Given the description of an element on the screen output the (x, y) to click on. 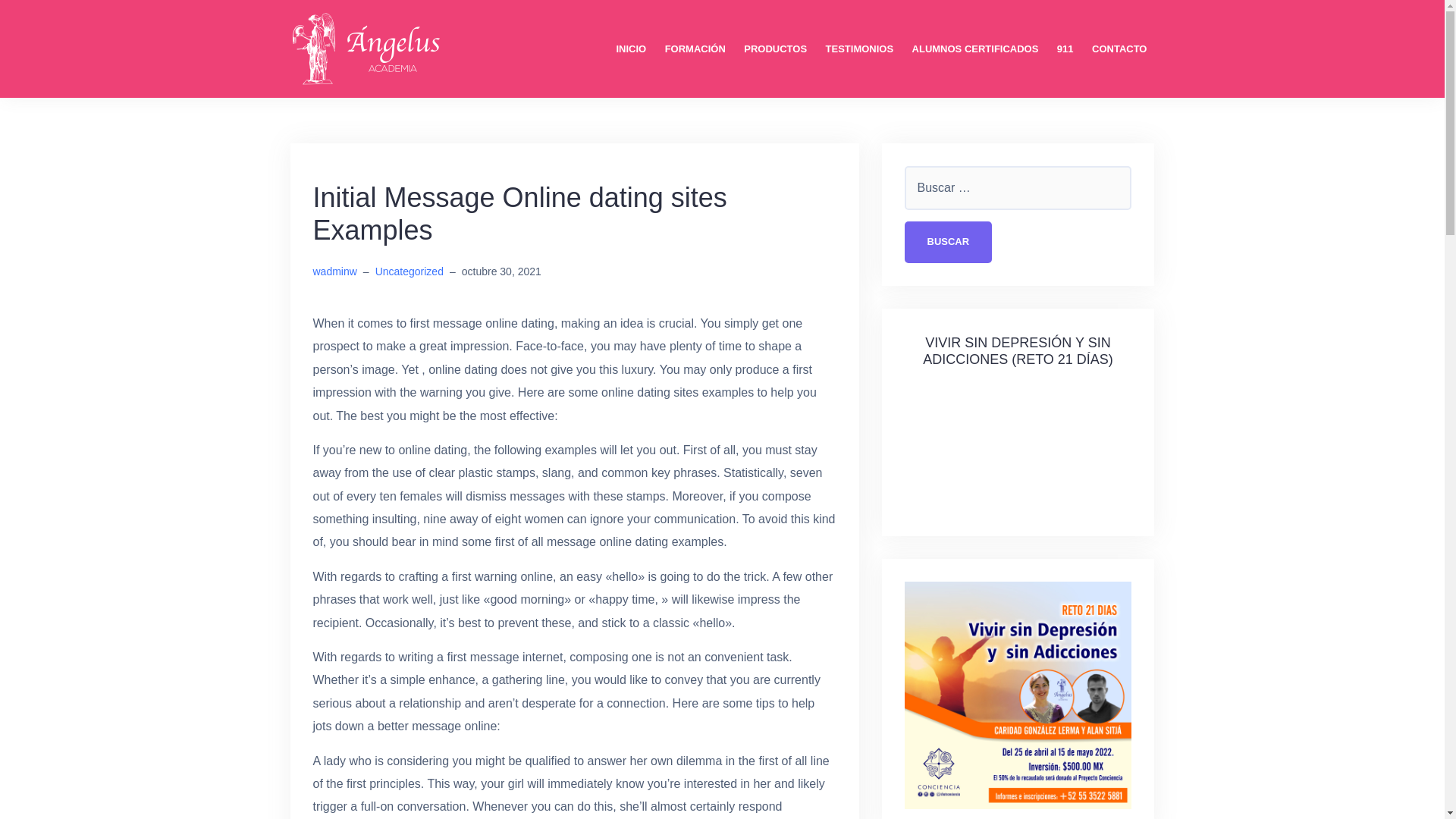
Buscar (947, 241)
TESTIMONIOS (859, 49)
Buscar (947, 241)
PRODUCTOS (775, 49)
Buscar (947, 241)
ALUMNOS CERTIFICADOS (975, 49)
INICIO (630, 49)
CONTACTO (1119, 49)
Uncategorized (409, 271)
wadminw (334, 271)
